Given the description of an element on the screen output the (x, y) to click on. 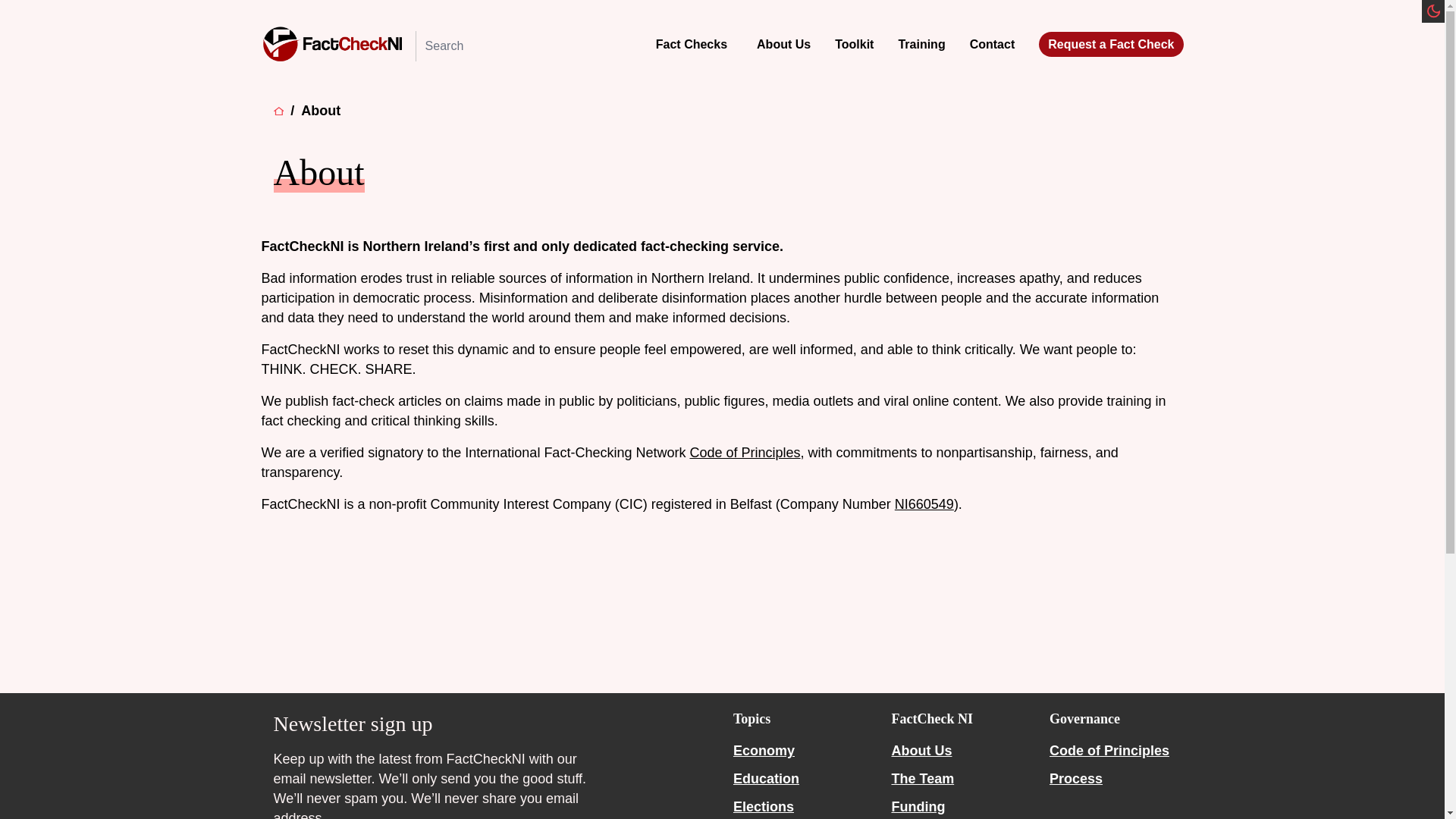
About Us (783, 43)
Search (19, 9)
Code of Principles (743, 452)
Elections (763, 806)
Toolkit (853, 43)
NI660549 (924, 503)
Economy (763, 750)
Contact (991, 43)
Education (766, 778)
Request a Fact Check (1110, 43)
Fact Checks (691, 43)
Training (921, 43)
